Given the description of an element on the screen output the (x, y) to click on. 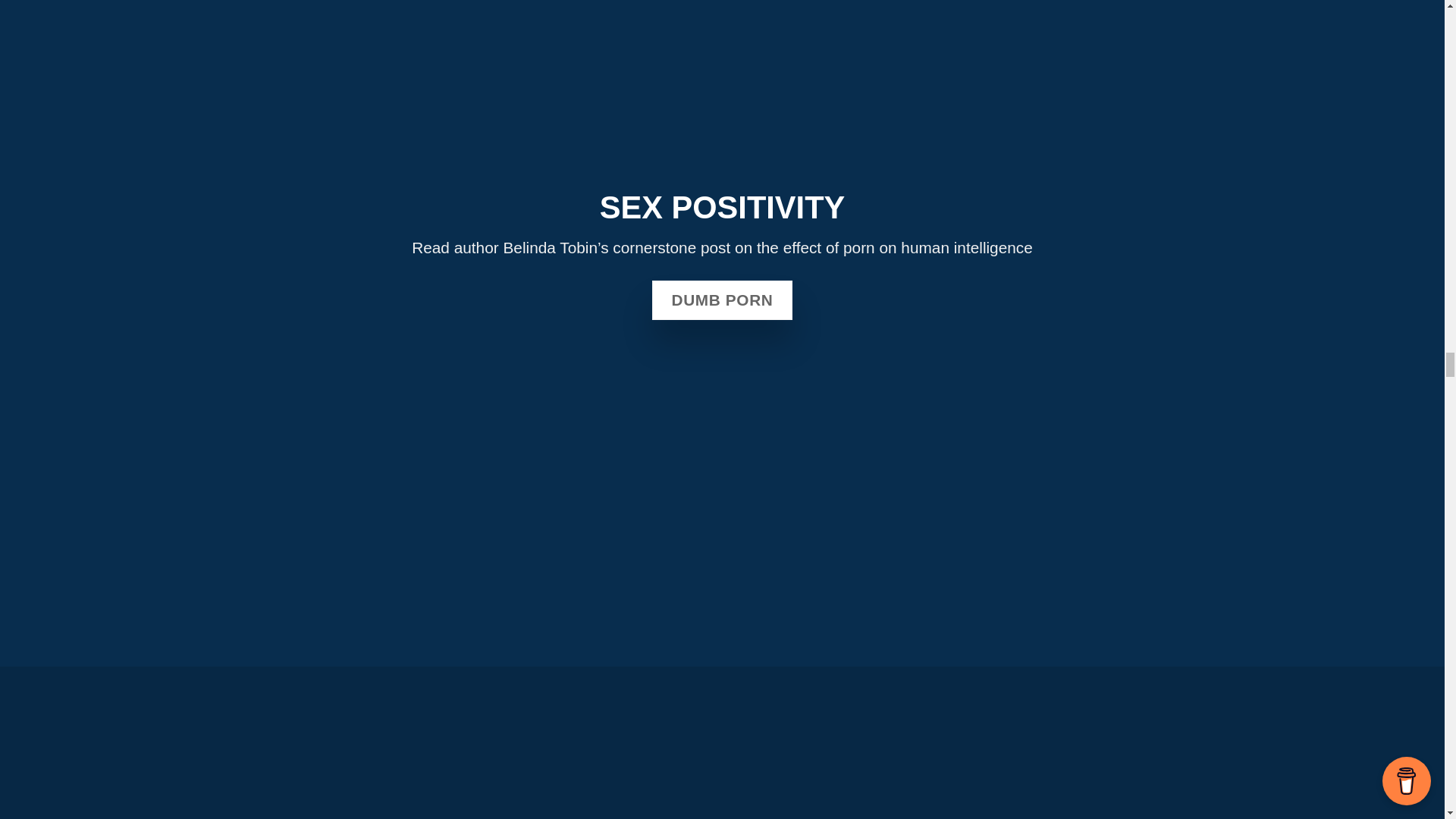
DUMB PORN (722, 300)
